Given the description of an element on the screen output the (x, y) to click on. 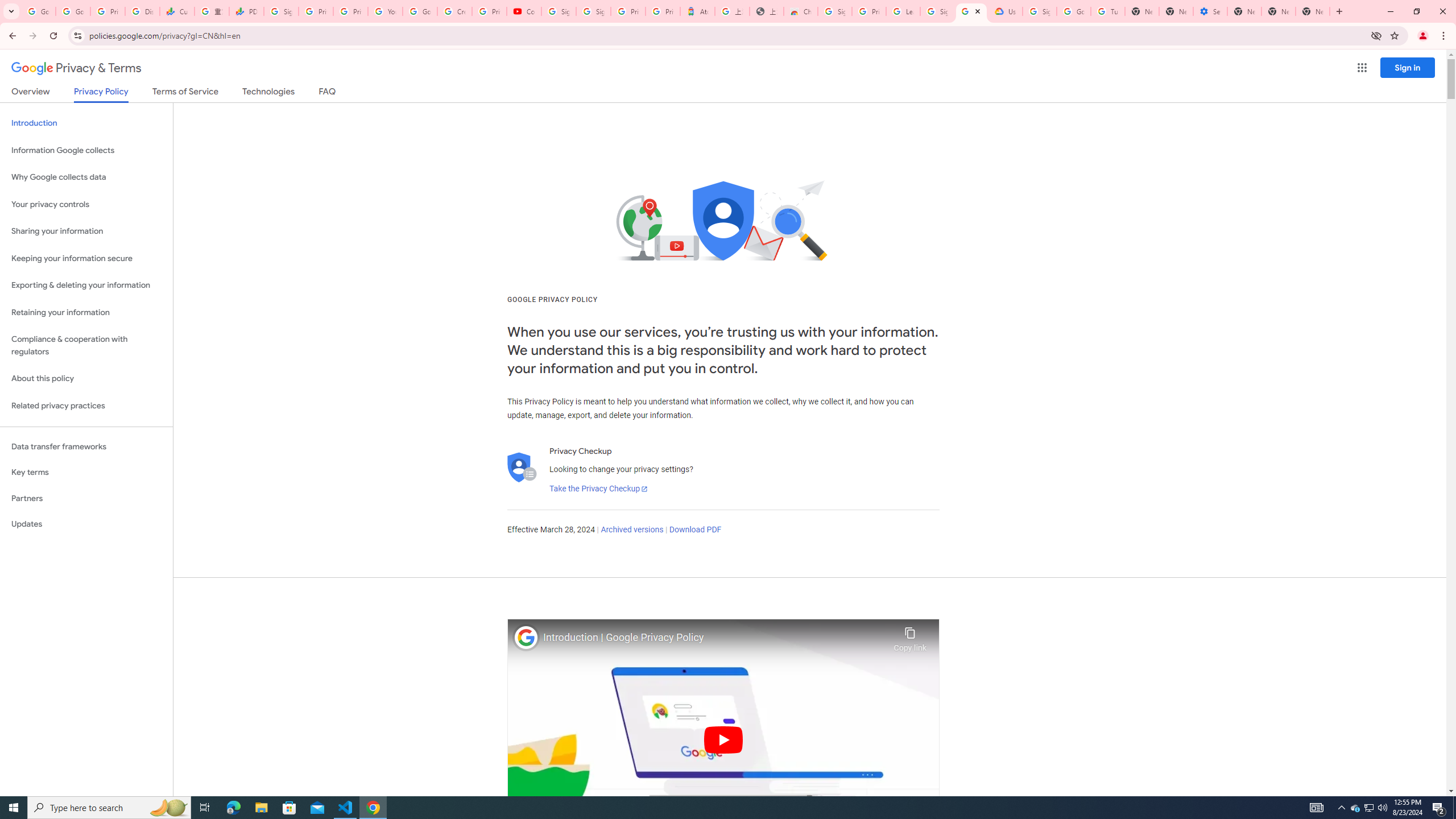
Sign in - Google Accounts (592, 11)
Atour Hotel - Google hotels (697, 11)
New Tab (1312, 11)
PDD Holdings Inc - ADR (PDD) Price & News - Google Finance (246, 11)
Sign in - Google Accounts (1039, 11)
Retaining your information (86, 312)
Google Workspace Admin Community (38, 11)
Google Account Help (419, 11)
Exporting & deleting your information (86, 284)
Google Account Help (1073, 11)
